Given the description of an element on the screen output the (x, y) to click on. 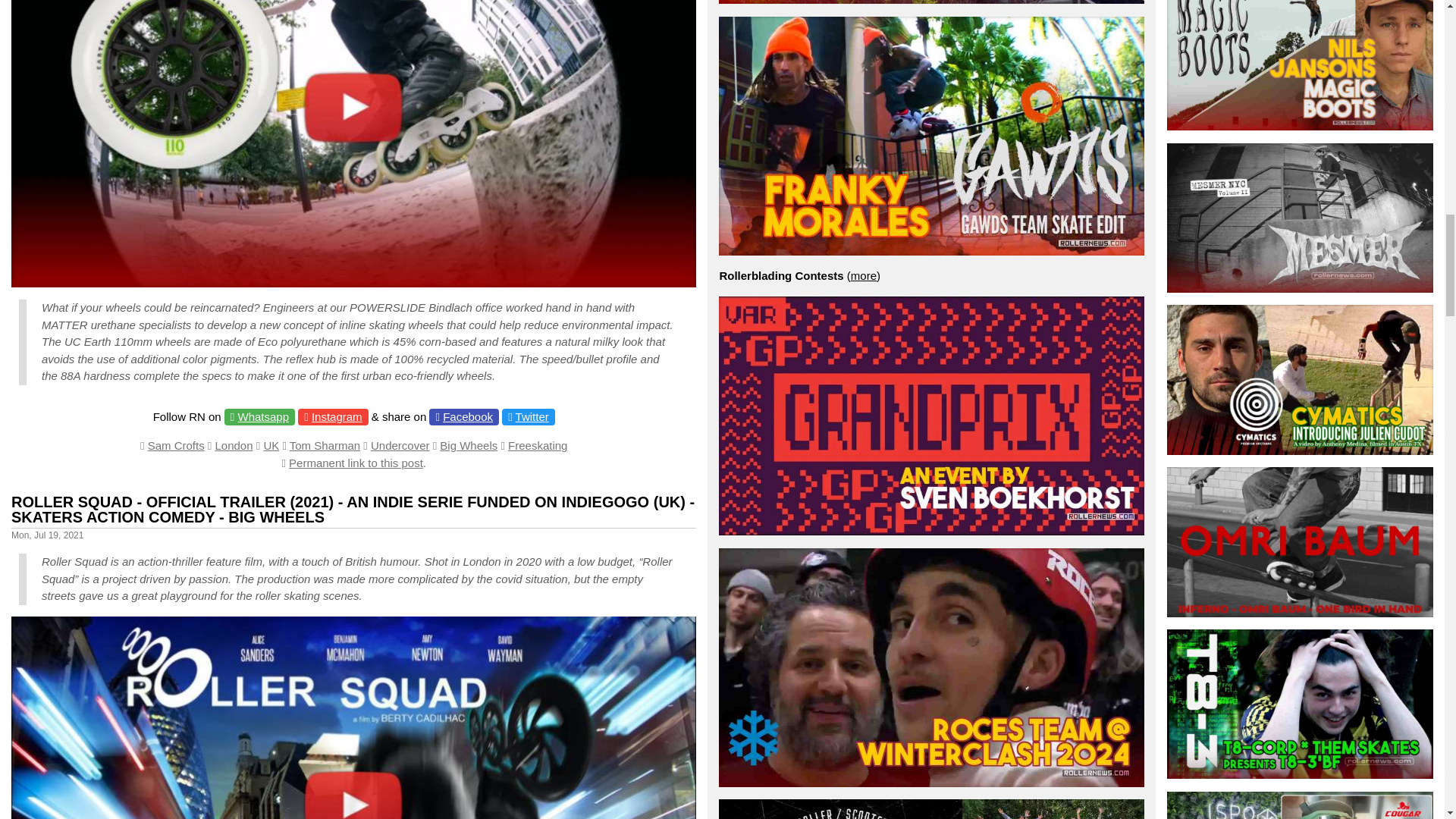
Rollernews Instagram (336, 416)
Twitter (531, 416)
Facebook (467, 416)
Rollernews on Whatsapp (263, 416)
